Given the description of an element on the screen output the (x, y) to click on. 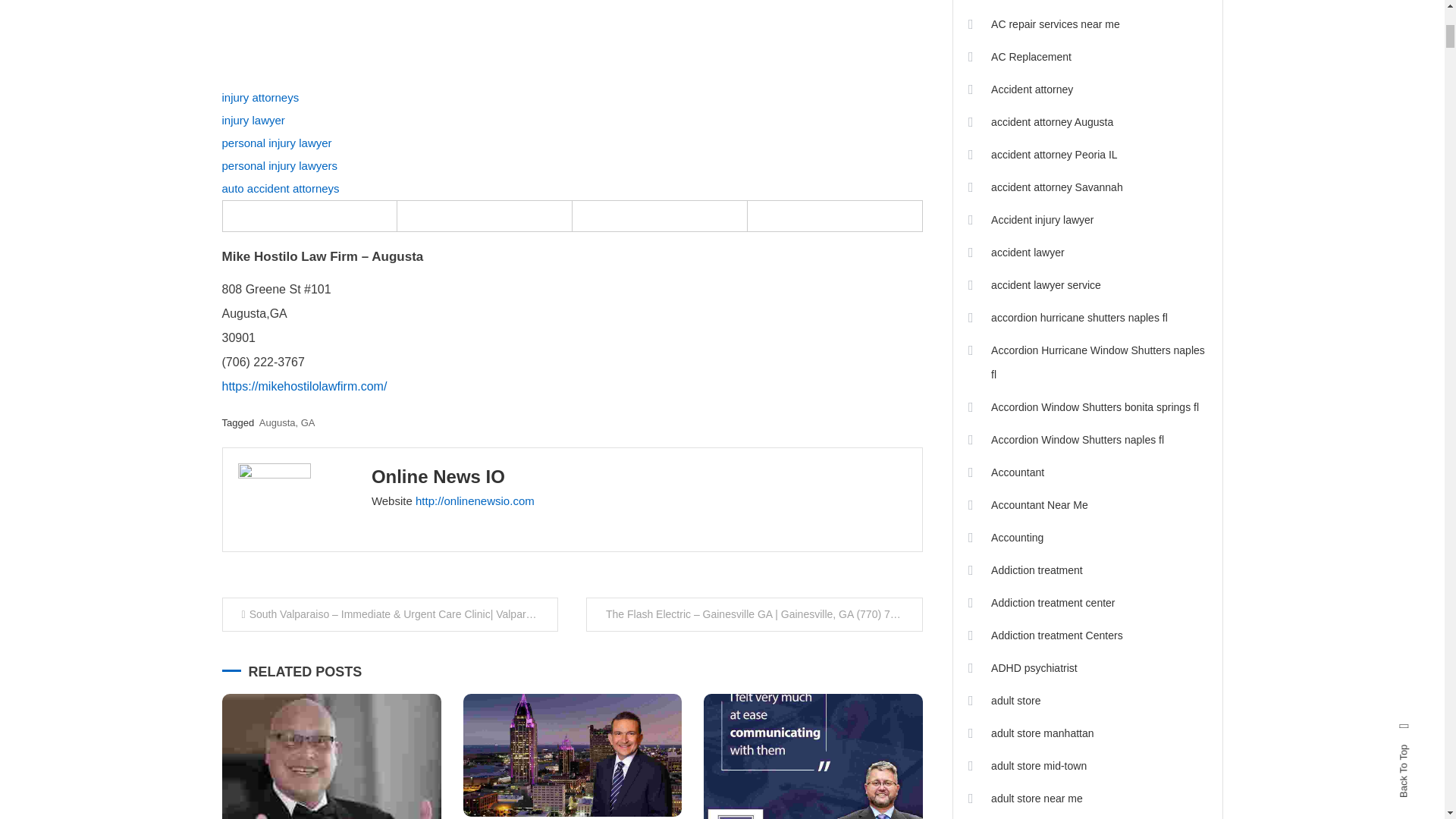
Posts by Online News IO (438, 476)
